Given the description of an element on the screen output the (x, y) to click on. 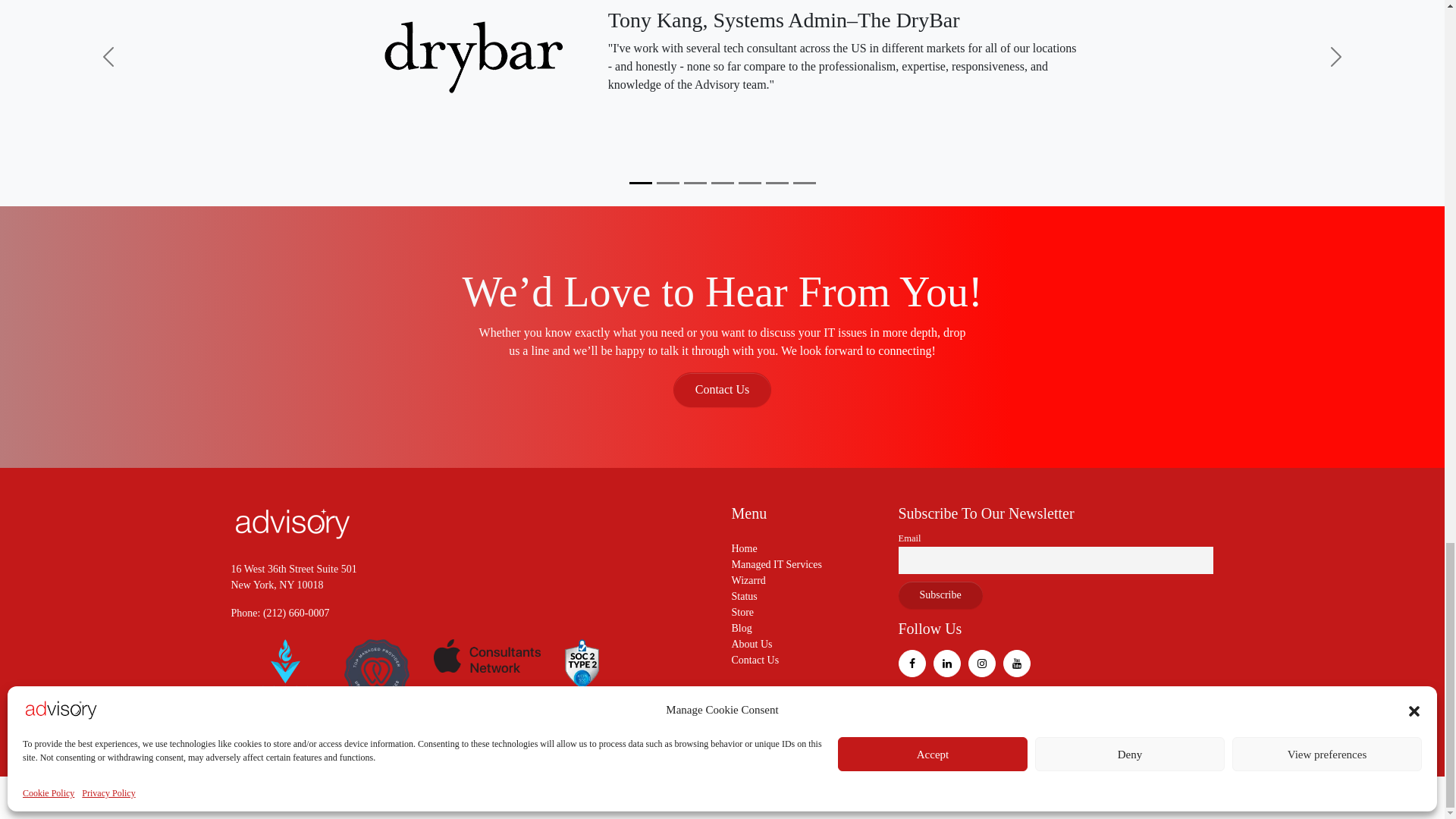
Subscribe (939, 595)
